Given the description of an element on the screen output the (x, y) to click on. 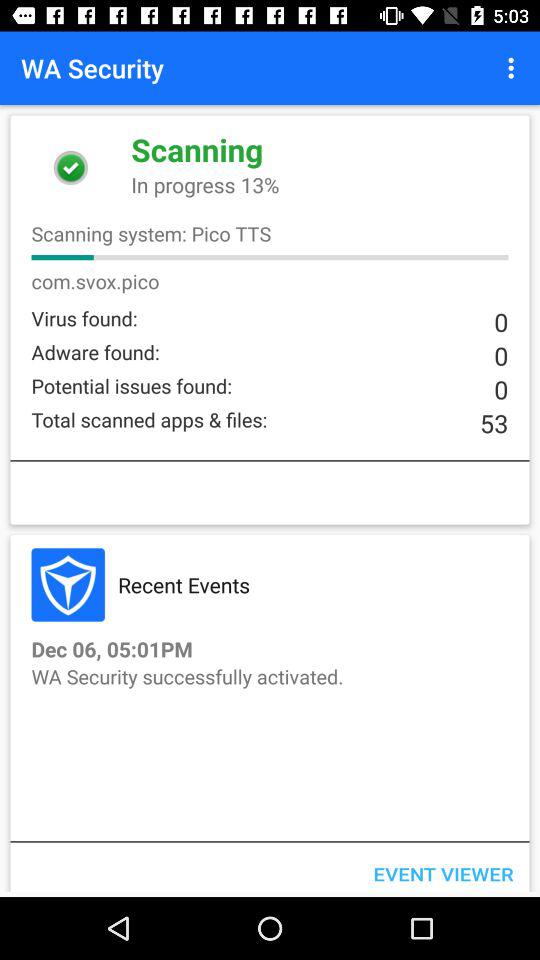
open the icon at the top right corner (513, 67)
